Given the description of an element on the screen output the (x, y) to click on. 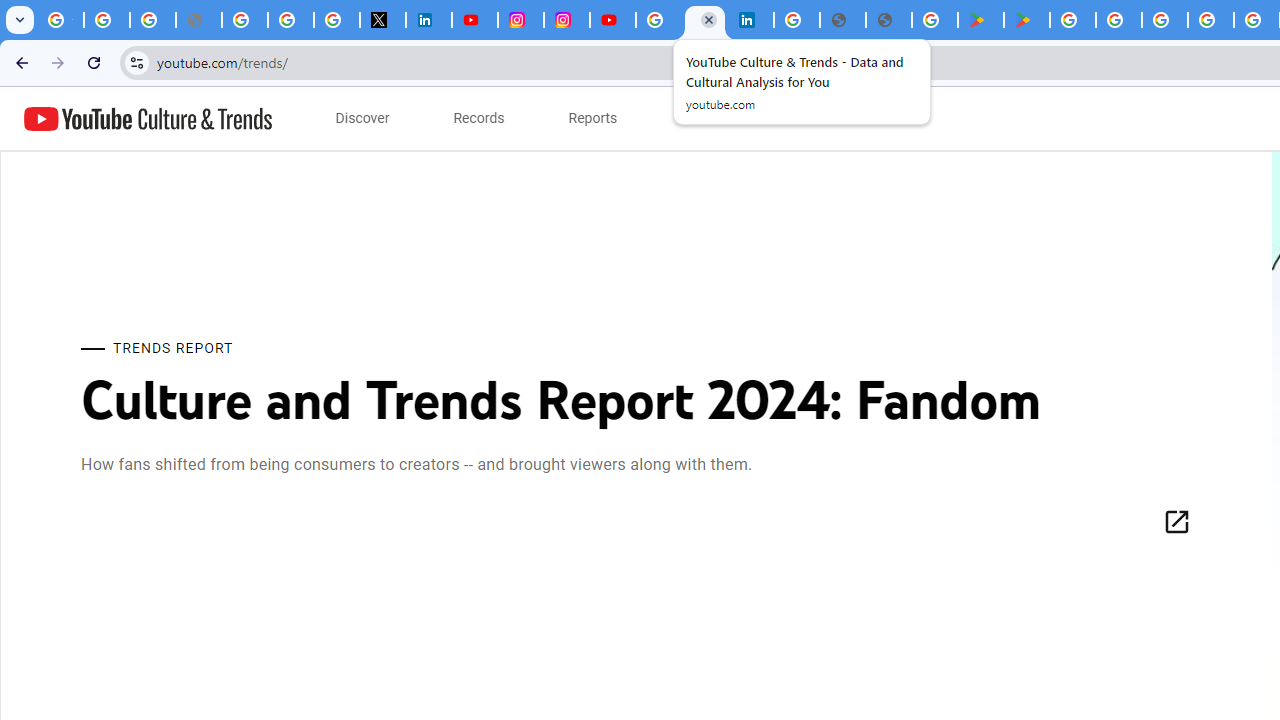
X (382, 20)
